Given the description of an element on the screen output the (x, y) to click on. 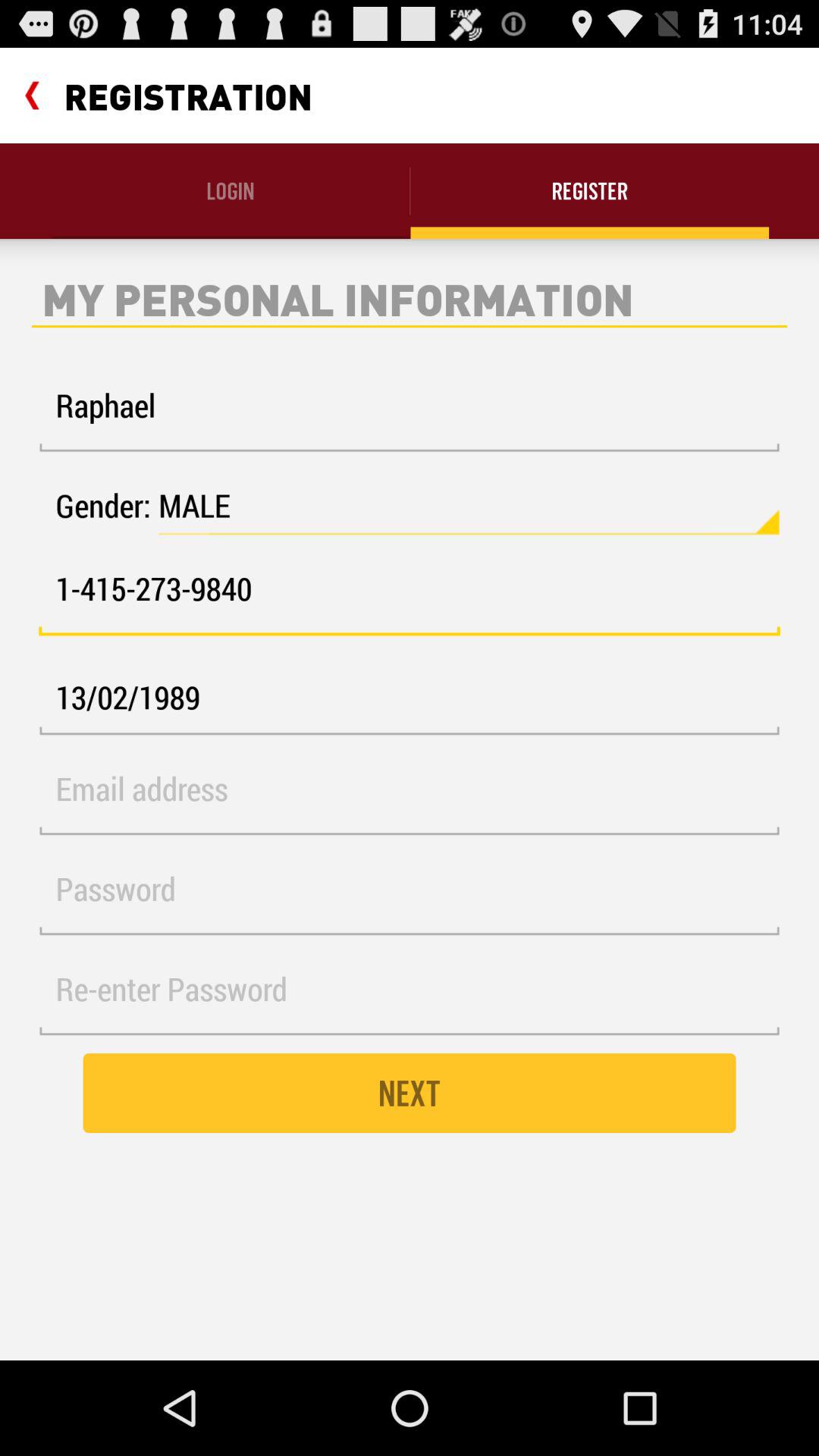
swipe to the 1 415 273 icon (409, 597)
